Given the description of an element on the screen output the (x, y) to click on. 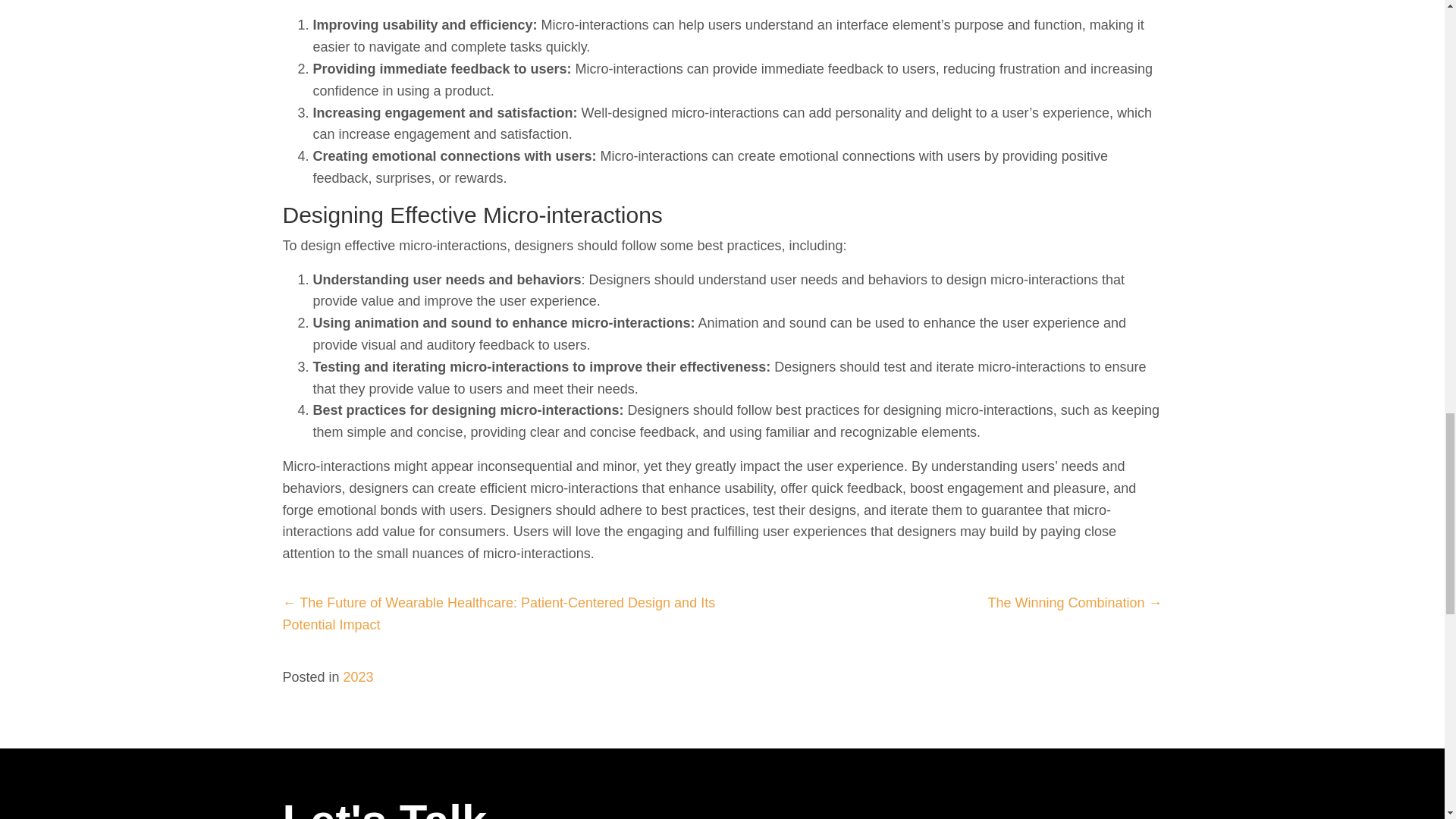
2023 (358, 676)
